Given the description of an element on the screen output the (x, y) to click on. 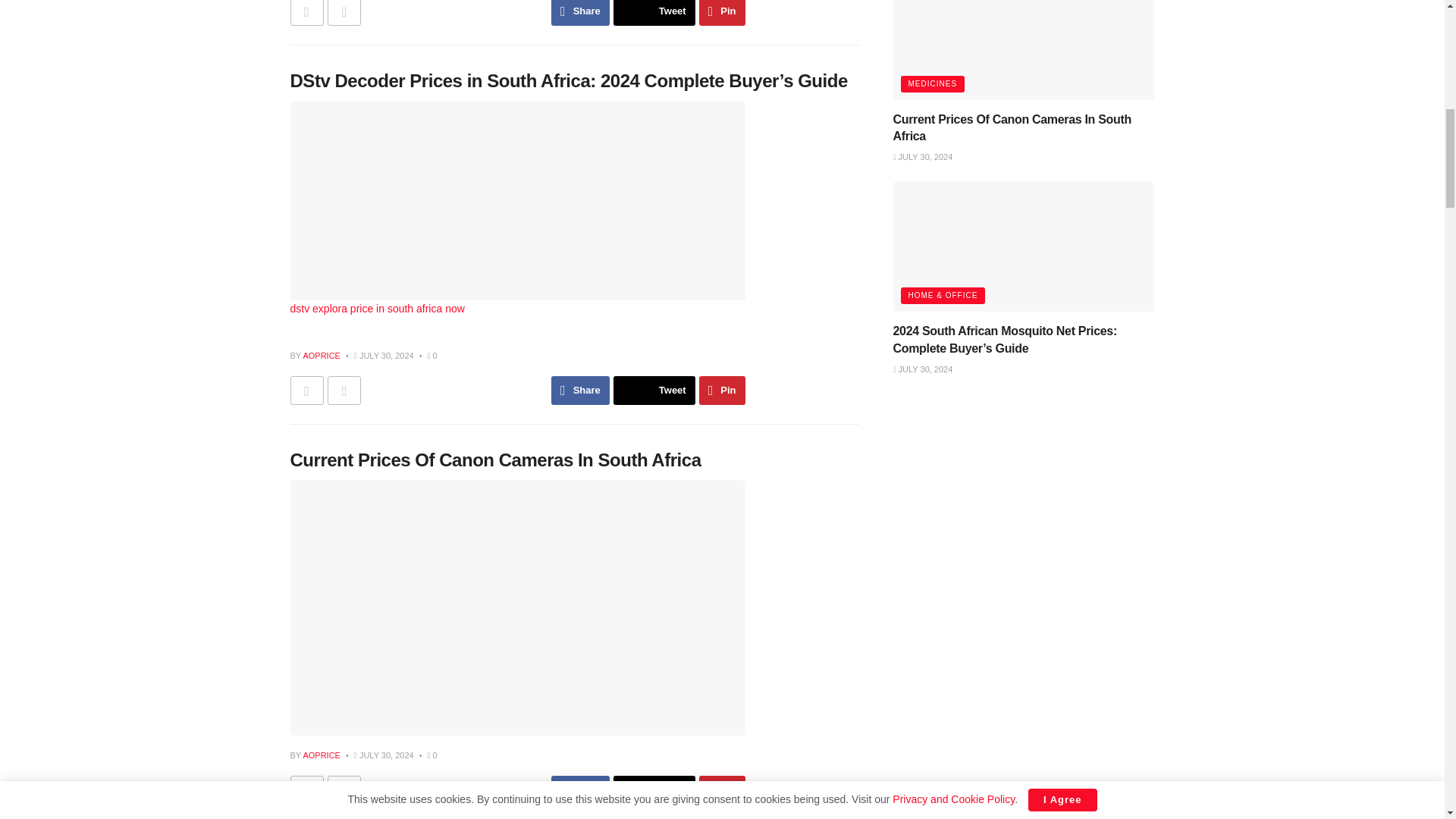
dstv explora price in south africa now (516, 208)
AOPRICE (321, 355)
Share (580, 12)
Tweet (653, 12)
Pin (721, 12)
